Given the description of an element on the screen output the (x, y) to click on. 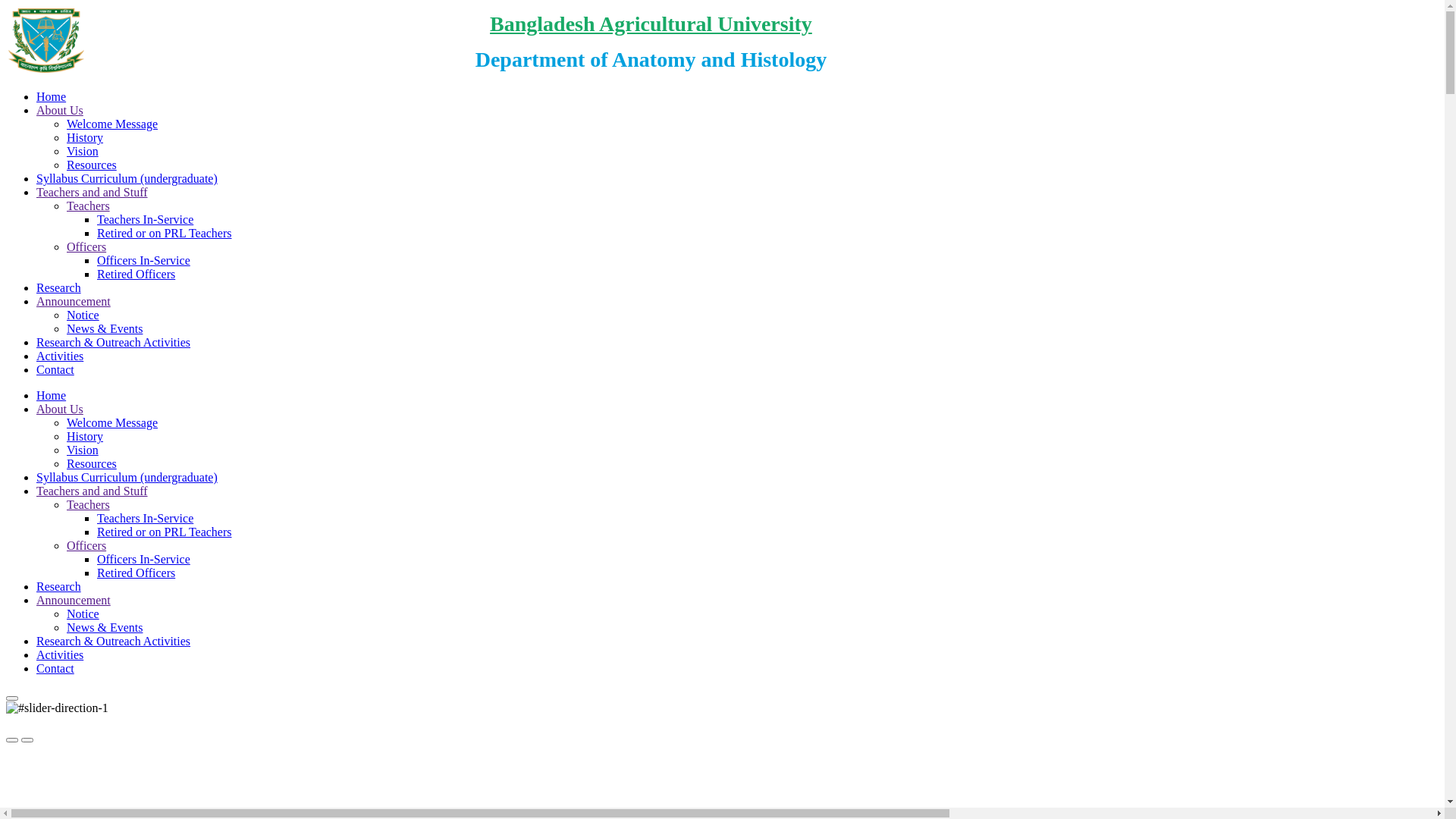
Vision Element type: text (82, 449)
Retired or on PRL Teachers Element type: text (164, 232)
History Element type: text (84, 137)
Contact Element type: text (55, 668)
Resources Element type: text (91, 164)
History Element type: text (84, 435)
Research Element type: text (58, 287)
News & Events Element type: text (104, 328)
Research Element type: text (58, 586)
Announcement Element type: text (73, 599)
Syllabus Curriculum (undergraduate) Element type: text (126, 178)
Notice Element type: text (82, 613)
Retired or on PRL Teachers Element type: text (164, 531)
Officers Element type: text (86, 545)
Retired Officers Element type: text (136, 273)
Teachers and and Stuff Element type: text (91, 490)
Teachers and and Stuff Element type: text (91, 191)
Officers In-Service Element type: text (143, 558)
Resources Element type: text (91, 463)
Teachers In-Service Element type: text (145, 517)
Bangladesh Agricultural University Element type: text (650, 23)
Vision Element type: text (82, 150)
Home Element type: text (50, 395)
Teachers Element type: text (87, 504)
Contact Element type: text (55, 369)
News & Events Element type: text (104, 627)
Officers In-Service Element type: text (143, 260)
Retired Officers Element type: text (136, 572)
Announcement Element type: text (73, 300)
Research & Outreach Activities Element type: text (113, 341)
Activities Element type: text (59, 355)
Syllabus Curriculum (undergraduate) Element type: text (126, 476)
Teachers Element type: text (87, 205)
Teachers In-Service Element type: text (145, 219)
Activities Element type: text (59, 654)
Home Element type: text (50, 96)
Welcome Message Element type: text (111, 123)
Welcome Message Element type: text (111, 422)
Notice Element type: text (82, 314)
About Us Element type: text (59, 109)
Research & Outreach Activities Element type: text (113, 640)
Officers Element type: text (86, 246)
About Us Element type: text (59, 408)
